Given the description of an element on the screen output the (x, y) to click on. 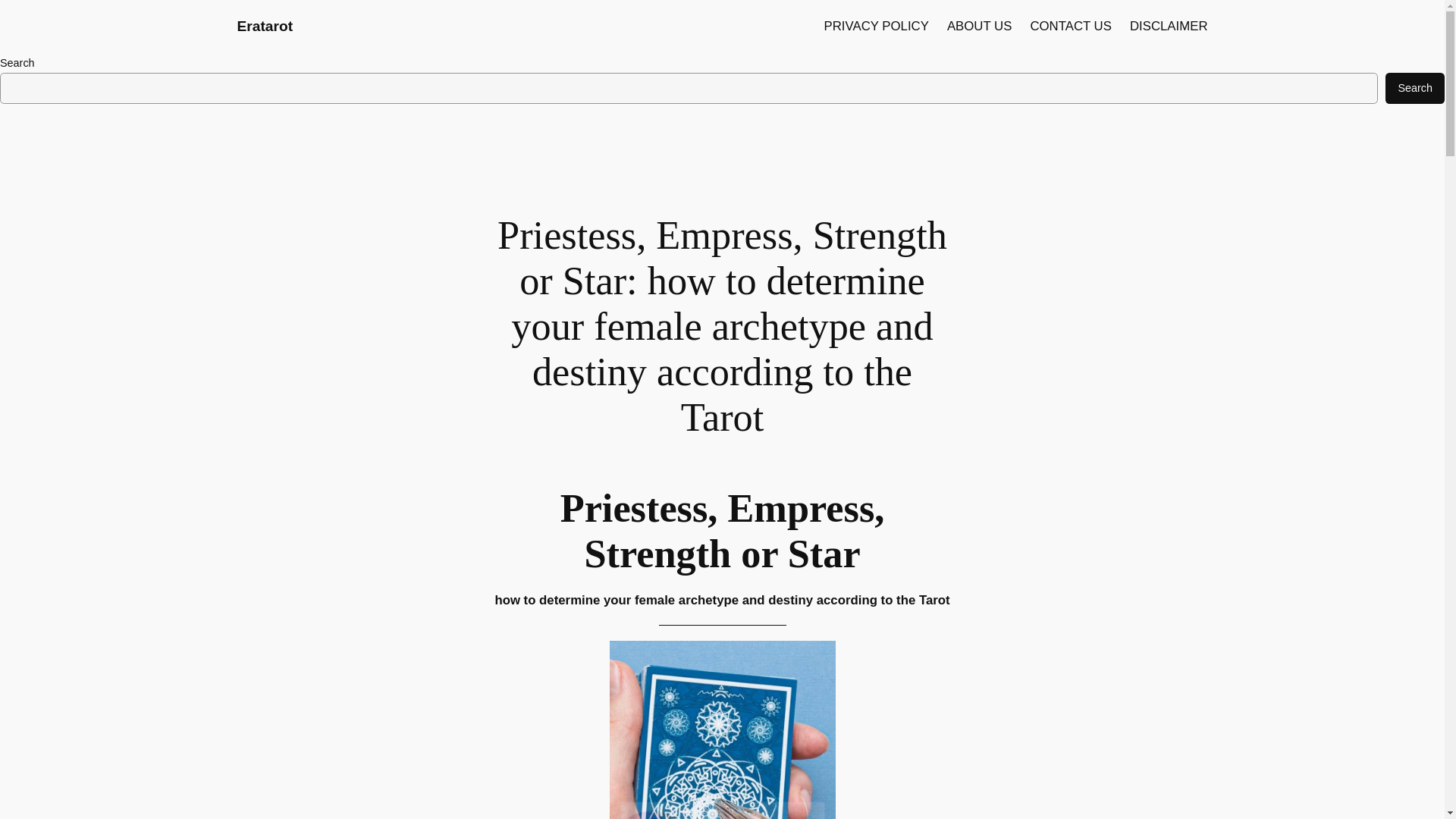
PRIVACY POLICY (876, 26)
DISCLAIMER (1168, 26)
Eratarot (263, 26)
ABOUT US (979, 26)
CONTACT US (1070, 26)
